Given the description of an element on the screen output the (x, y) to click on. 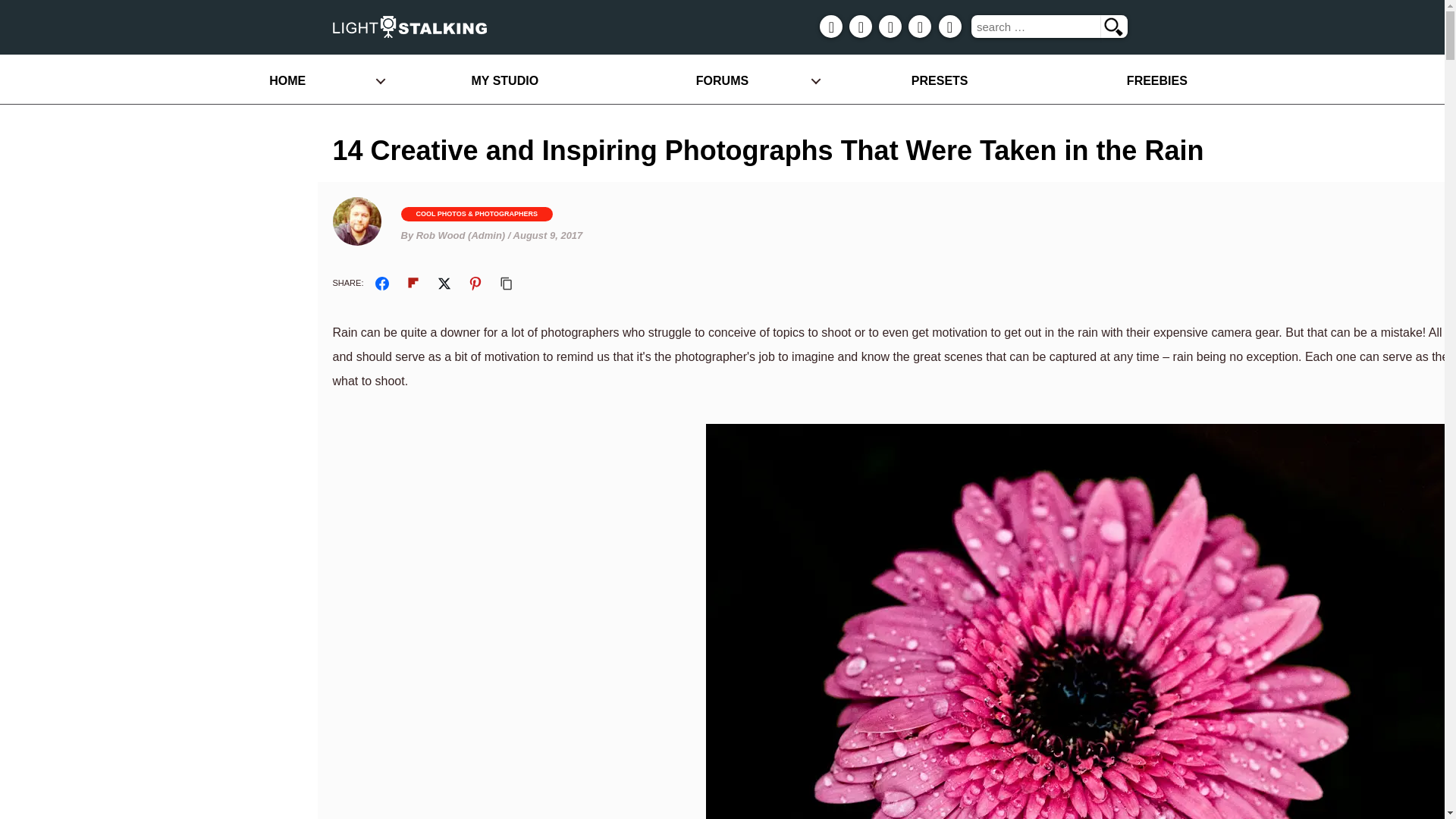
Share on Copy Link (506, 283)
Share on Tweets (444, 283)
FORUMS (722, 81)
Search (1113, 26)
MY STUDIO (504, 81)
Search (1113, 26)
Share on Pins (475, 283)
HOME (287, 81)
Share on Shares (382, 283)
Share on Flipboard (412, 283)
